Given the description of an element on the screen output the (x, y) to click on. 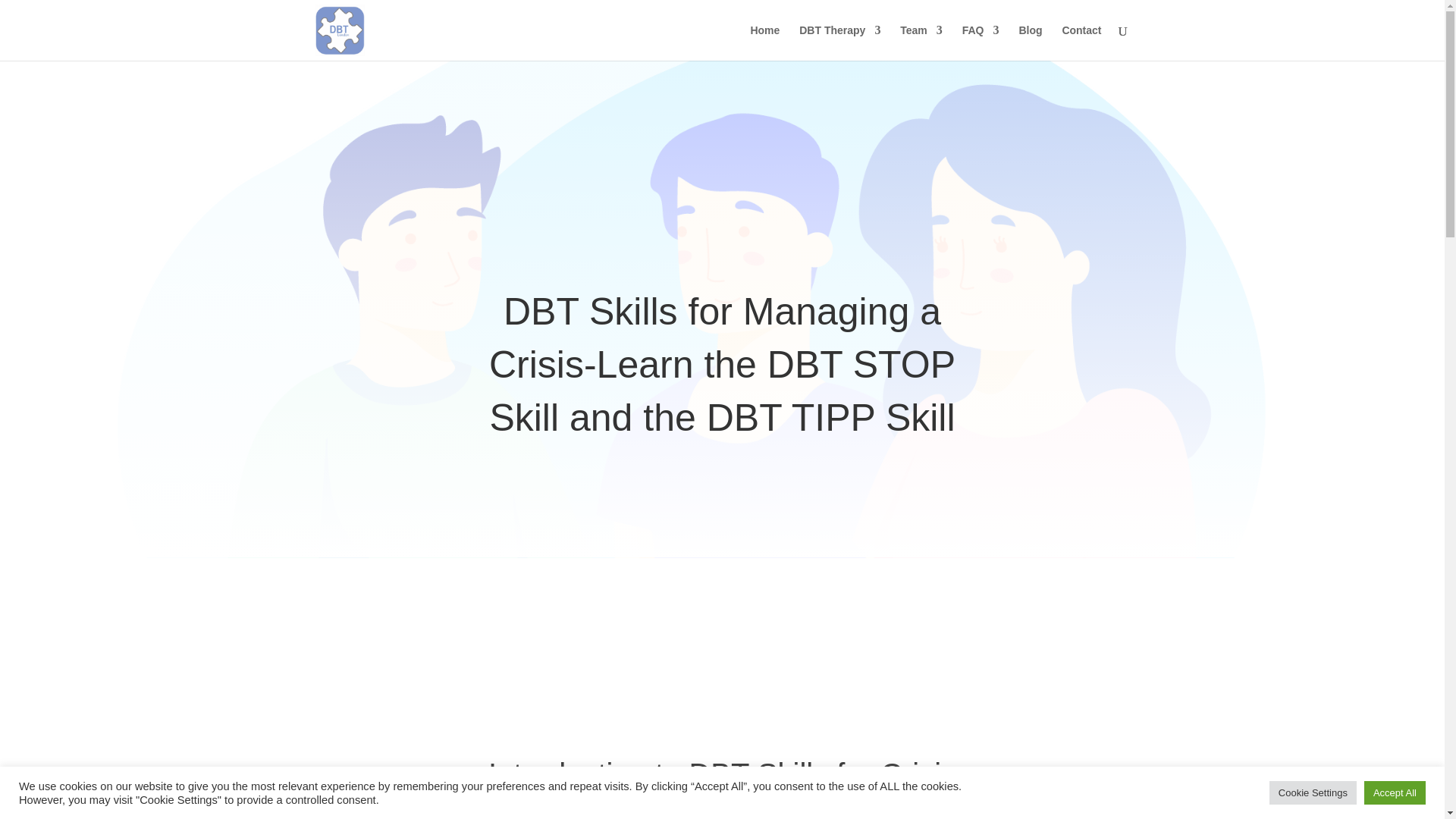
DBT Therapy (839, 42)
Contact (1080, 42)
FAQ (980, 42)
Team (920, 42)
